Given the description of an element on the screen output the (x, y) to click on. 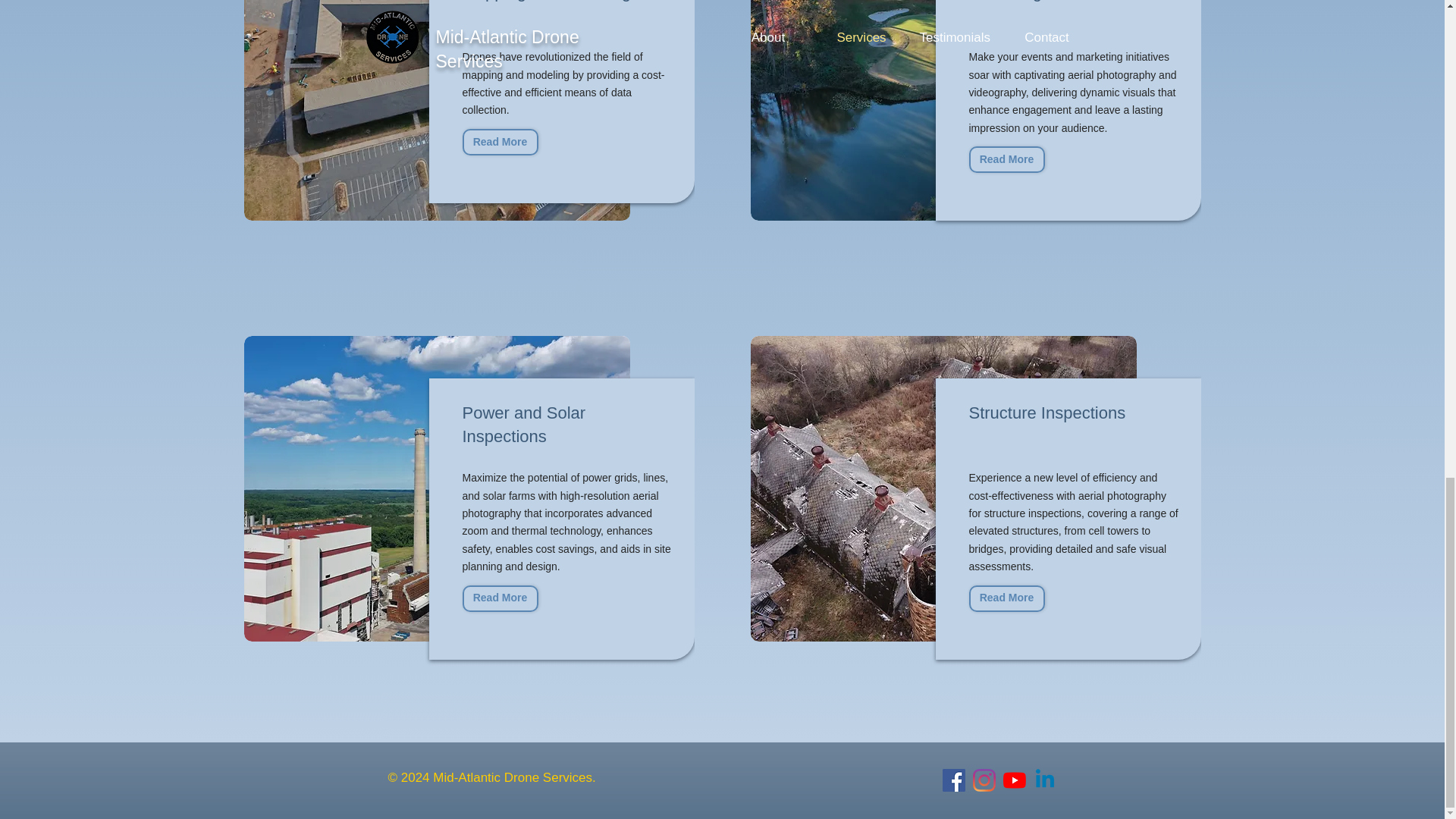
3D Model.jpg (437, 110)
Old Siloh Inspection.jpg (944, 488)
Read More (1007, 598)
Read More (1007, 159)
6.23.21-2.JPG (437, 488)
Read More (500, 598)
Read More (500, 141)
11.13.21-12.4.JPG (944, 110)
